Given the description of an element on the screen output the (x, y) to click on. 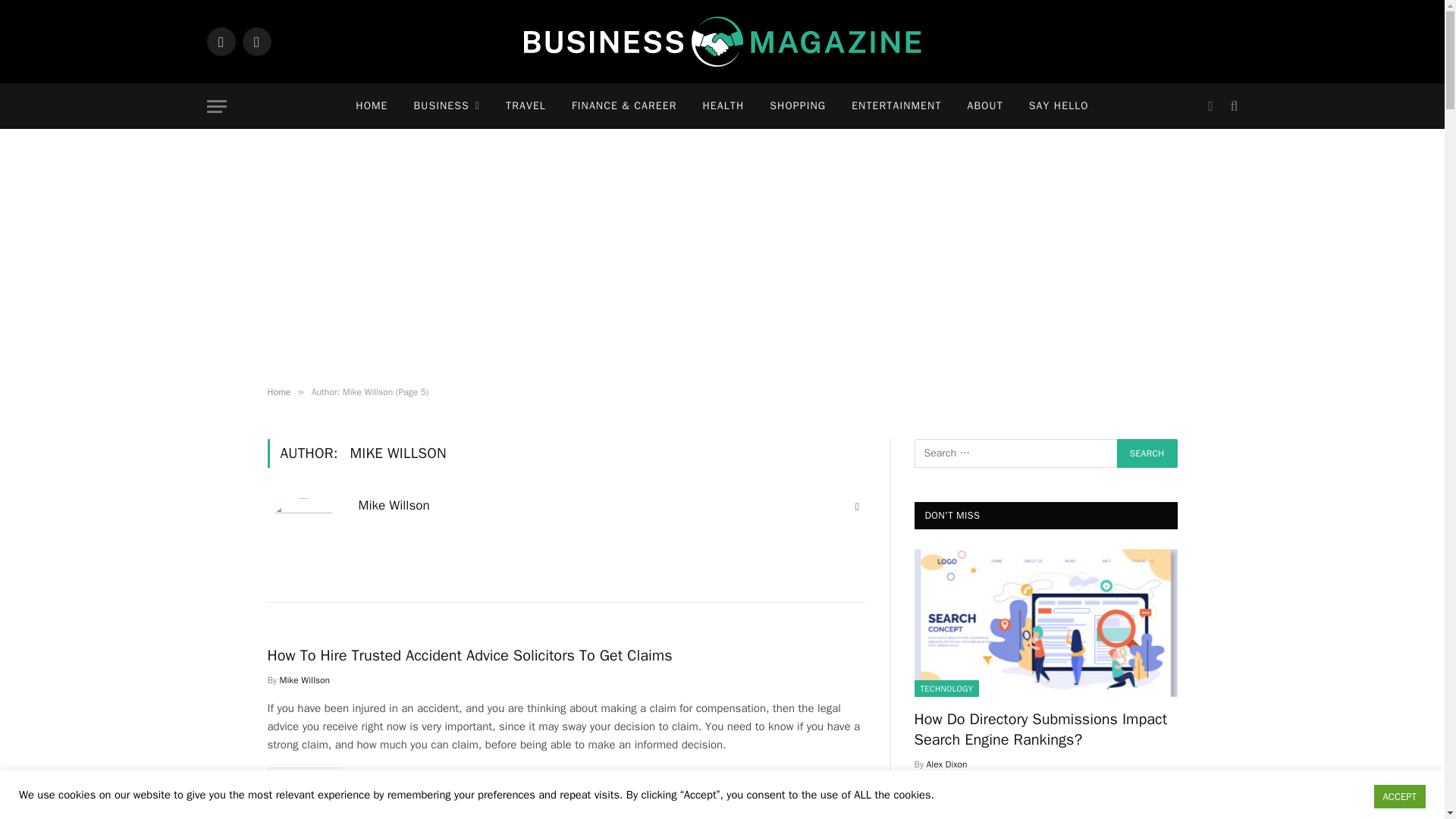
Switch to Dark Design - easier on eyes. (1209, 106)
Posts by Mike Willson (304, 680)
Website (856, 507)
Search (1146, 452)
Mike Willson (393, 505)
Posts by Mike Willson (393, 505)
ABOUT (985, 105)
BUSINESS (447, 105)
Twitter (256, 41)
HEALTH (722, 105)
Search (1146, 452)
Facebook (220, 41)
SAY HELLO (1059, 105)
How To Hire Trusted Accident Advice Solicitors To Get Claims (565, 655)
